Given the description of an element on the screen output the (x, y) to click on. 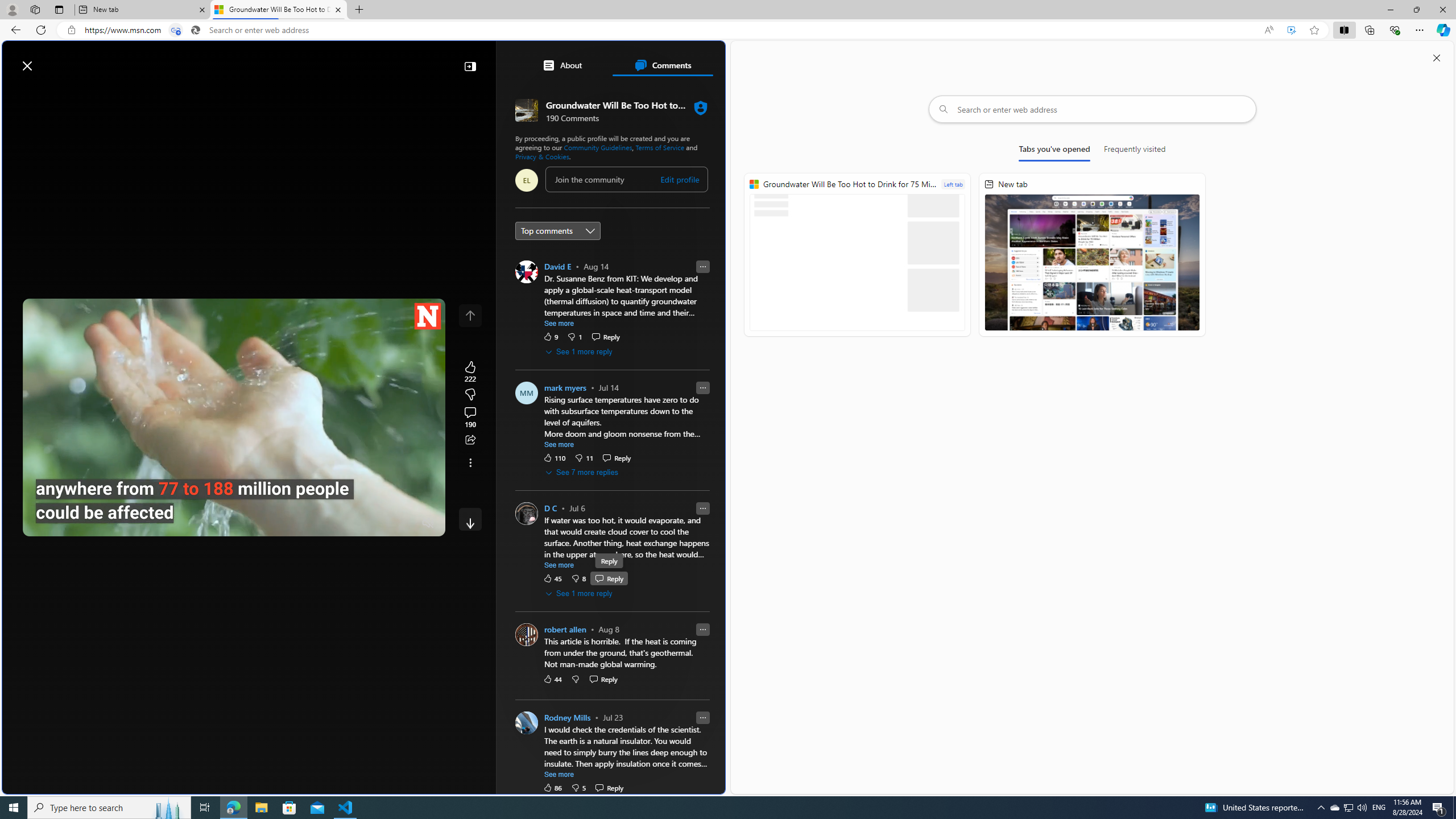
Class: control (469, 518)
See 1 more reply (579, 593)
Tabs in split screen (175, 29)
Close split screen (1436, 57)
Class: button-glyph (16, 92)
Pause (39, 523)
Profile Picture (526, 722)
86 Like (552, 787)
